Given the description of an element on the screen output the (x, y) to click on. 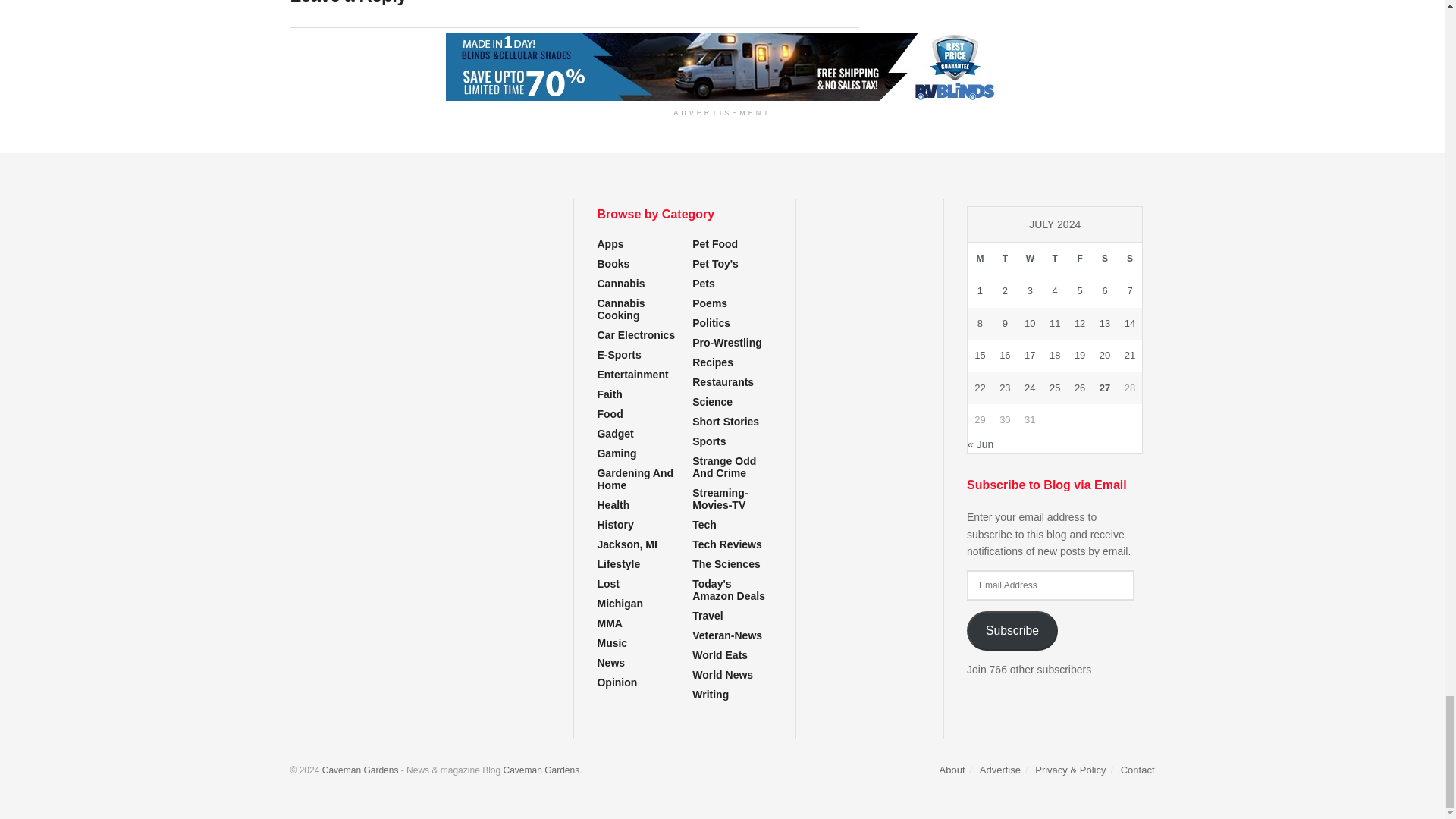
Caveman Gardens (541, 769)
Wednesday (1029, 258)
Another site by Caveman Gardens (359, 769)
Friday (1080, 258)
Sunday (1130, 258)
Tuesday (1004, 258)
Saturday (1105, 258)
Thursday (1054, 258)
Monday (980, 258)
